Given the description of an element on the screen output the (x, y) to click on. 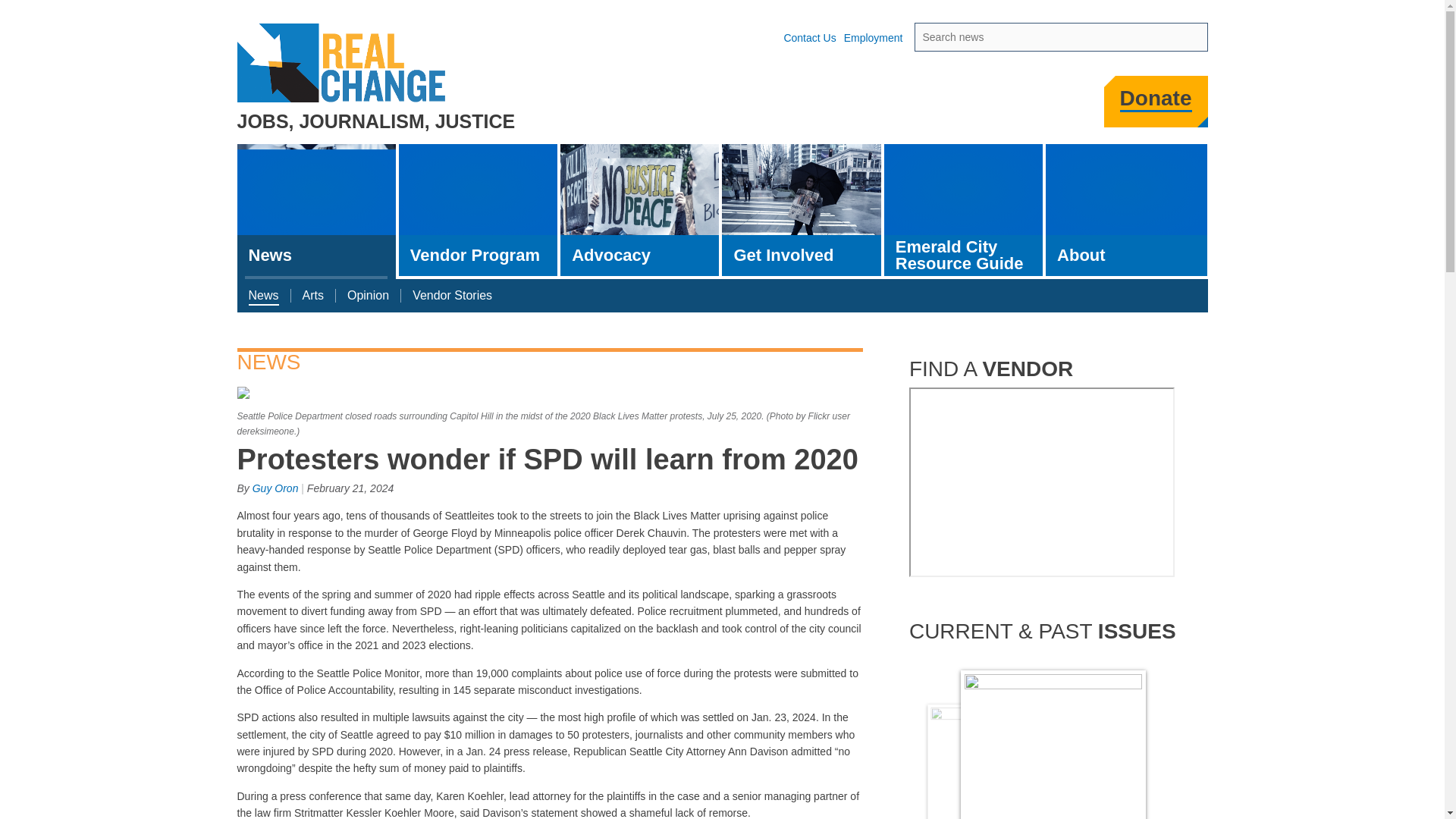
Real Change (341, 62)
Instagram (950, 105)
Employment (873, 37)
Donate (1155, 99)
Get Involved (801, 210)
Arts (312, 295)
News (262, 295)
Search (1196, 37)
Twitter (909, 105)
Emerald City Resource Guide (962, 210)
View user profile. (274, 488)
About (1126, 210)
RSS (1073, 105)
Contact Us (809, 37)
Advocacy (639, 210)
